Given the description of an element on the screen output the (x, y) to click on. 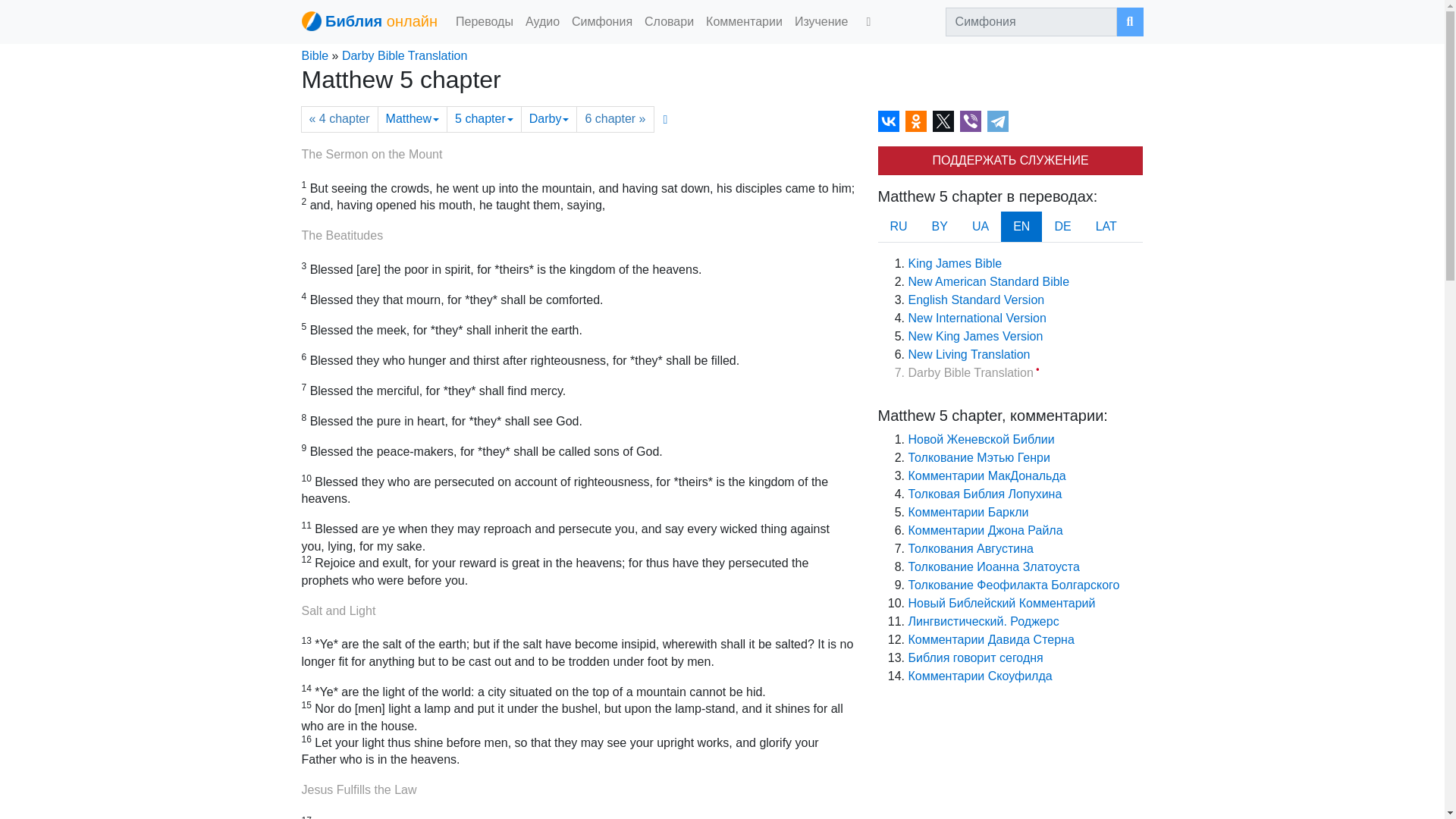
Viber (970, 120)
Twitter (943, 120)
DE (1062, 226)
Telegram (998, 120)
BY (939, 226)
RU (898, 226)
Darby (549, 119)
Bible (315, 55)
LAT (1106, 226)
5 chapter (483, 119)
Matthew (411, 119)
Darby Bible Translation (404, 55)
UA (980, 226)
EN (1021, 226)
